Given the description of an element on the screen output the (x, y) to click on. 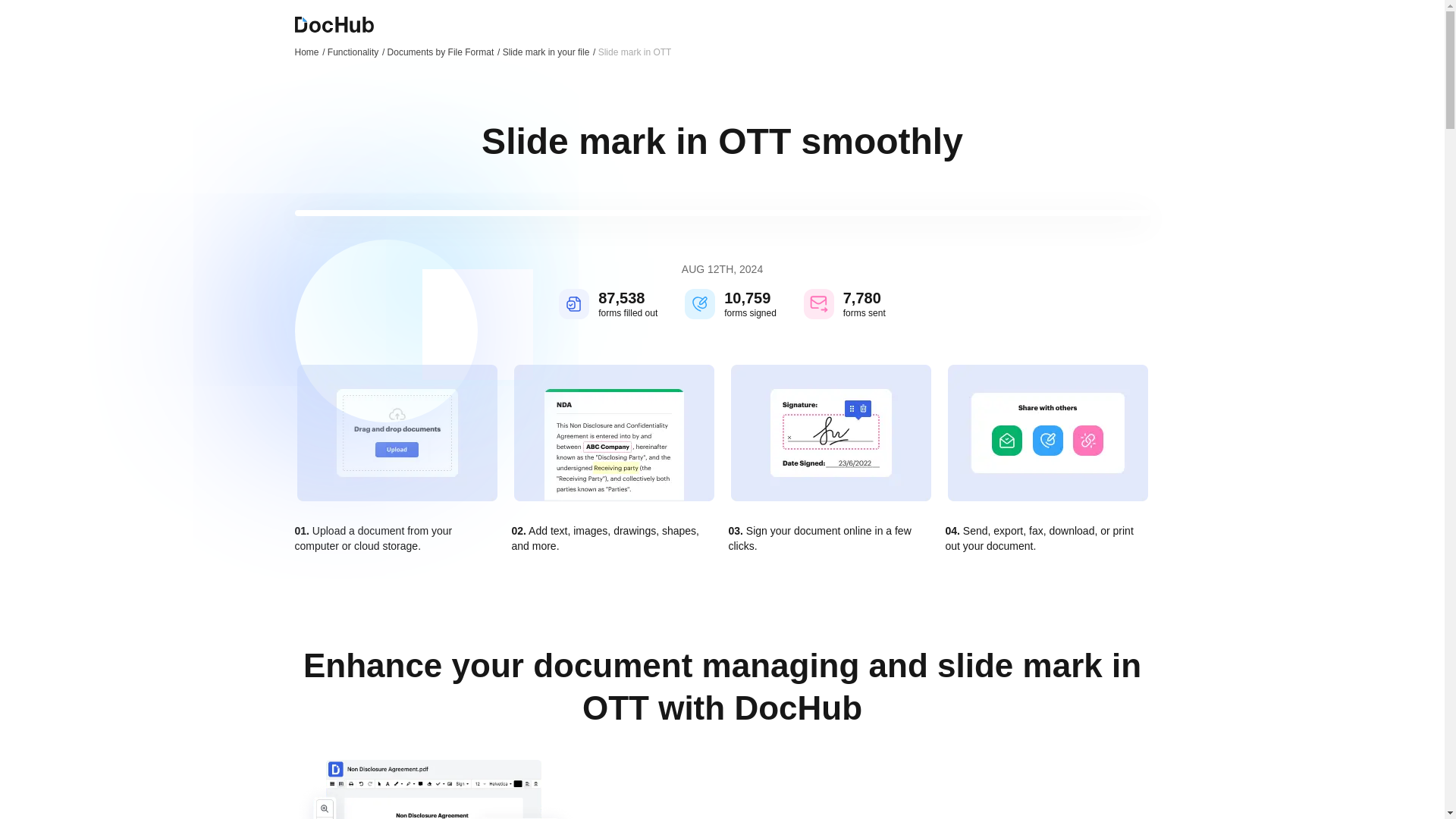
Slide mark in your file (548, 51)
Functionality (355, 51)
Home (309, 51)
Documents by File Format (443, 51)
